Given the description of an element on the screen output the (x, y) to click on. 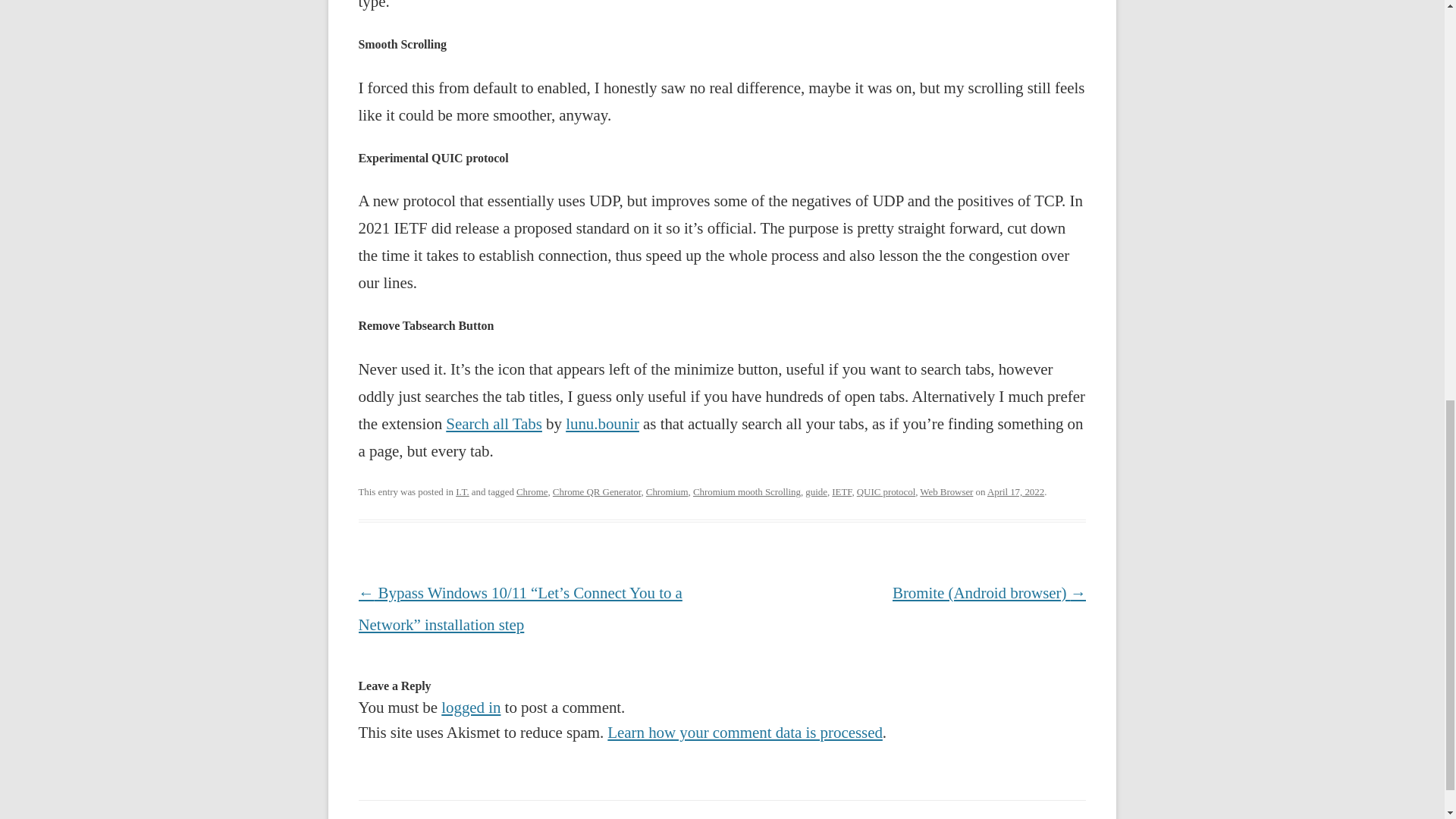
QUIC protocol (886, 491)
lunu.bounir (602, 423)
April 17, 2022 (1015, 491)
Chromium (667, 491)
IETF (841, 491)
I.T. (461, 491)
logged in (470, 707)
10:37 AM (1015, 491)
Web Browser (946, 491)
Search all Tabs (493, 423)
